Given the description of an element on the screen output the (x, y) to click on. 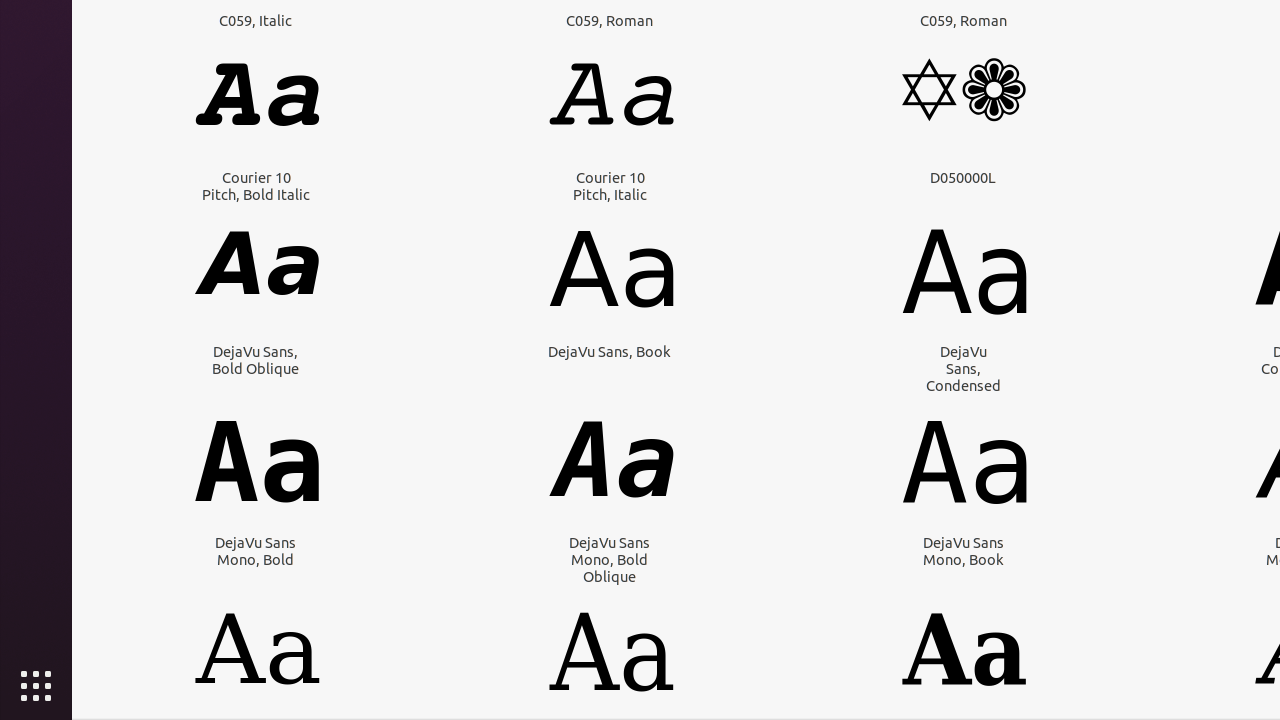
DejaVu Sans Mono, Book Element type: label (963, 551)
